Given the description of an element on the screen output the (x, y) to click on. 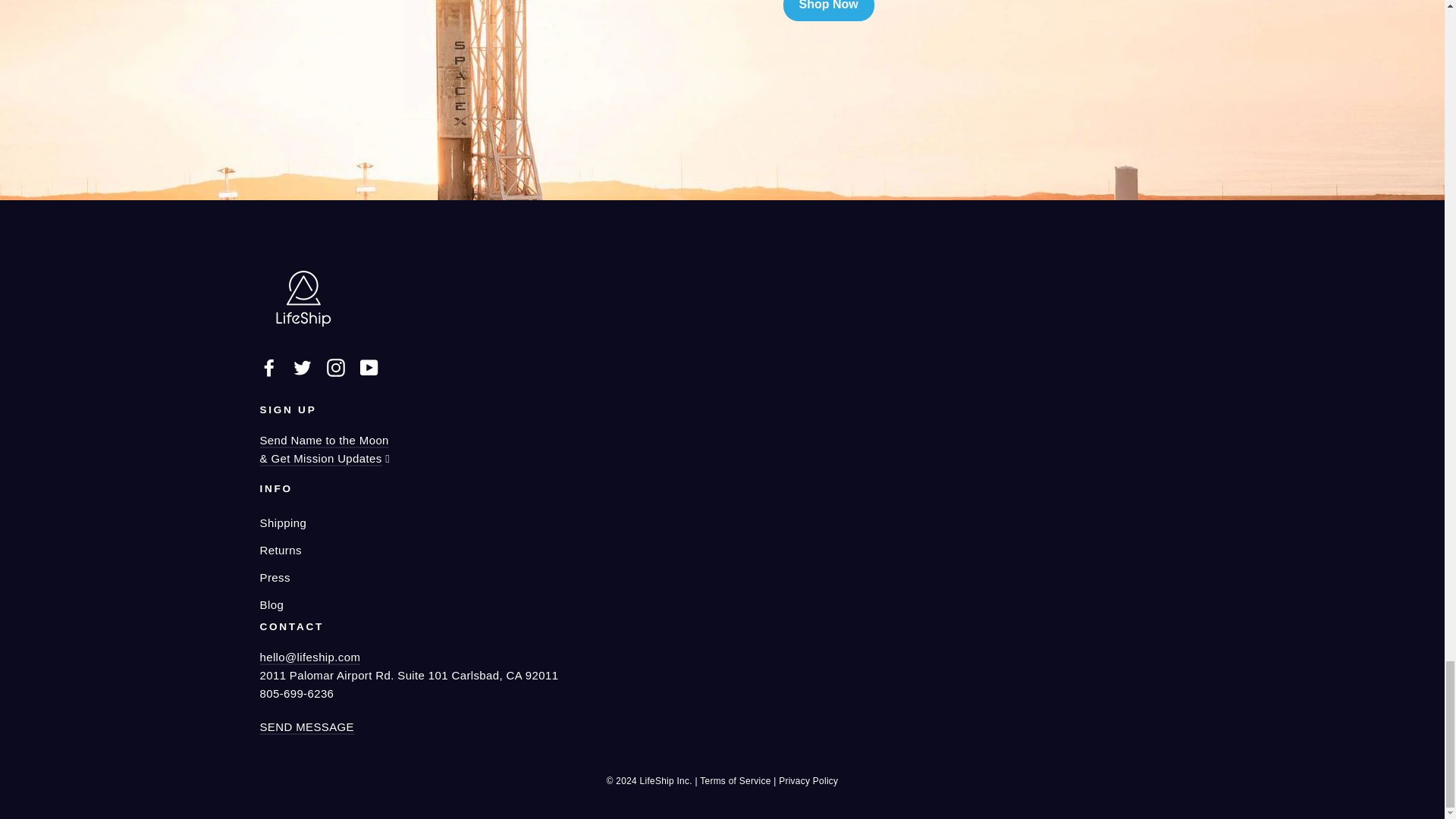
Send your name to the Moon (323, 450)
LifeShip on YouTube (368, 367)
LifeShip on Twitter (302, 367)
Contact (306, 727)
Shop Now (828, 10)
